Given the description of an element on the screen output the (x, y) to click on. 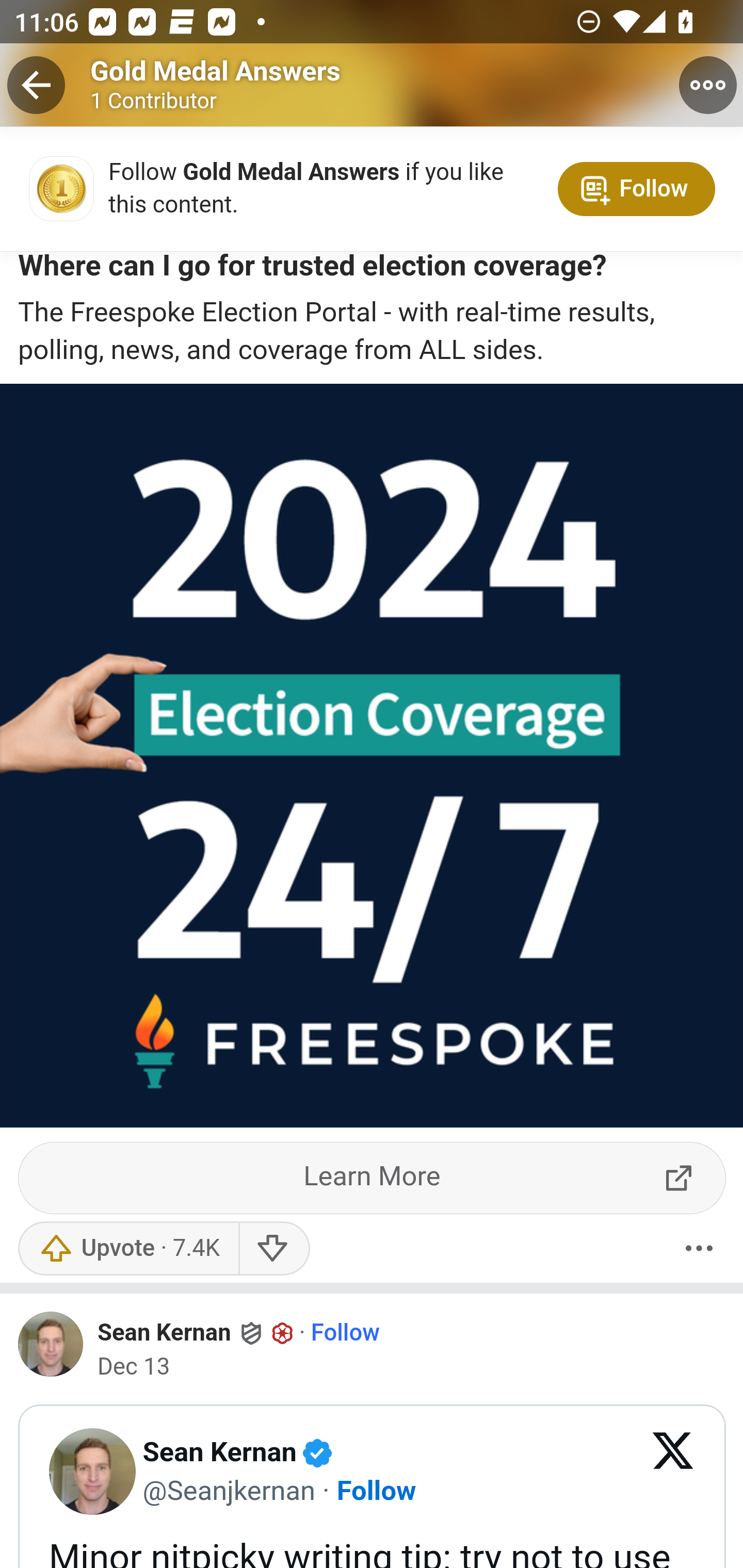
main-qimg-784c0b59c1772b60fd46a882711c92a8 (50, 193)
Where can I go for trusted election coverage? (312, 270)
Learn More ExternalLink (372, 1178)
Upvote (127, 1247)
Downvote (273, 1247)
More (699, 1247)
Profile photo for Sean Kernan (50, 1343)
Sean Kernan Sean Kernan     Space subscriber (195, 1332)
Follow (345, 1333)
Space subscriber (282, 1333)
View on X (673, 1472)
@Seanjkernan (228, 1489)
Follow (375, 1489)
